Given the description of an element on the screen output the (x, y) to click on. 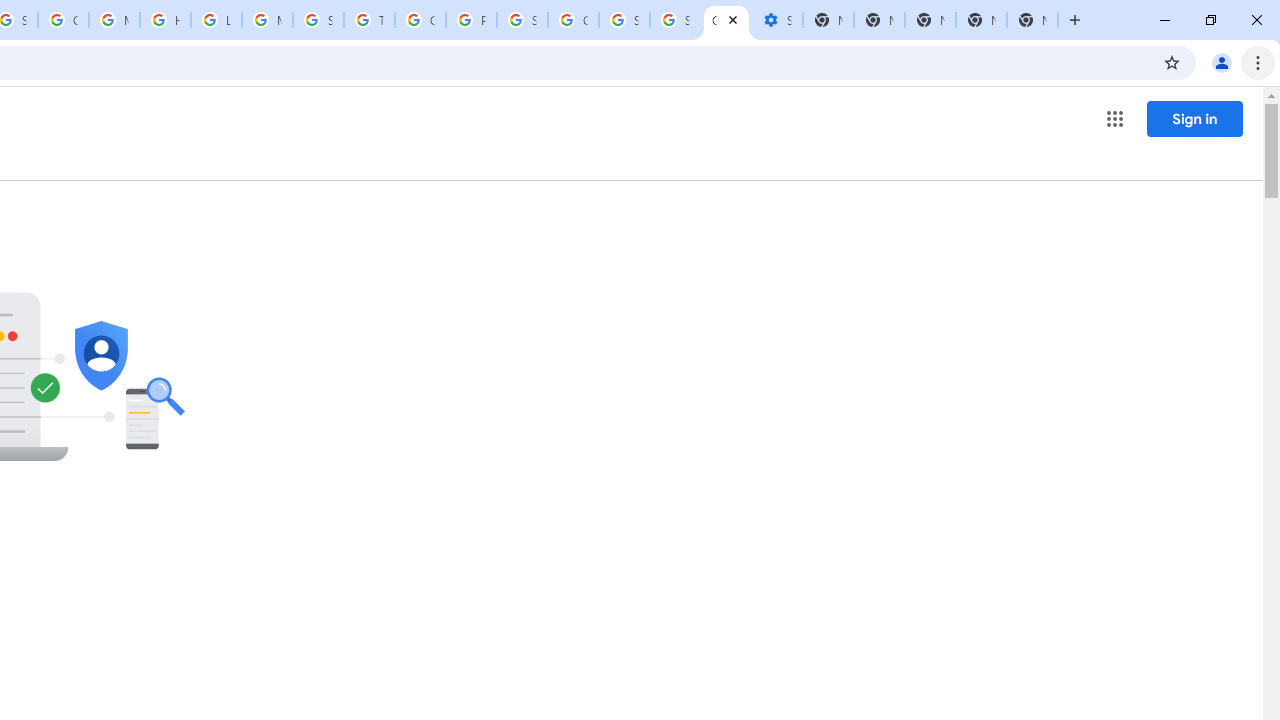
Settings - Performance (776, 20)
Search our Doodle Library Collection - Google Doodles (318, 20)
Sign in - Google Accounts (675, 20)
Sign in - Google Accounts (624, 20)
Trusted Information and Content - Google Safety Center (369, 20)
